Given the description of an element on the screen output the (x, y) to click on. 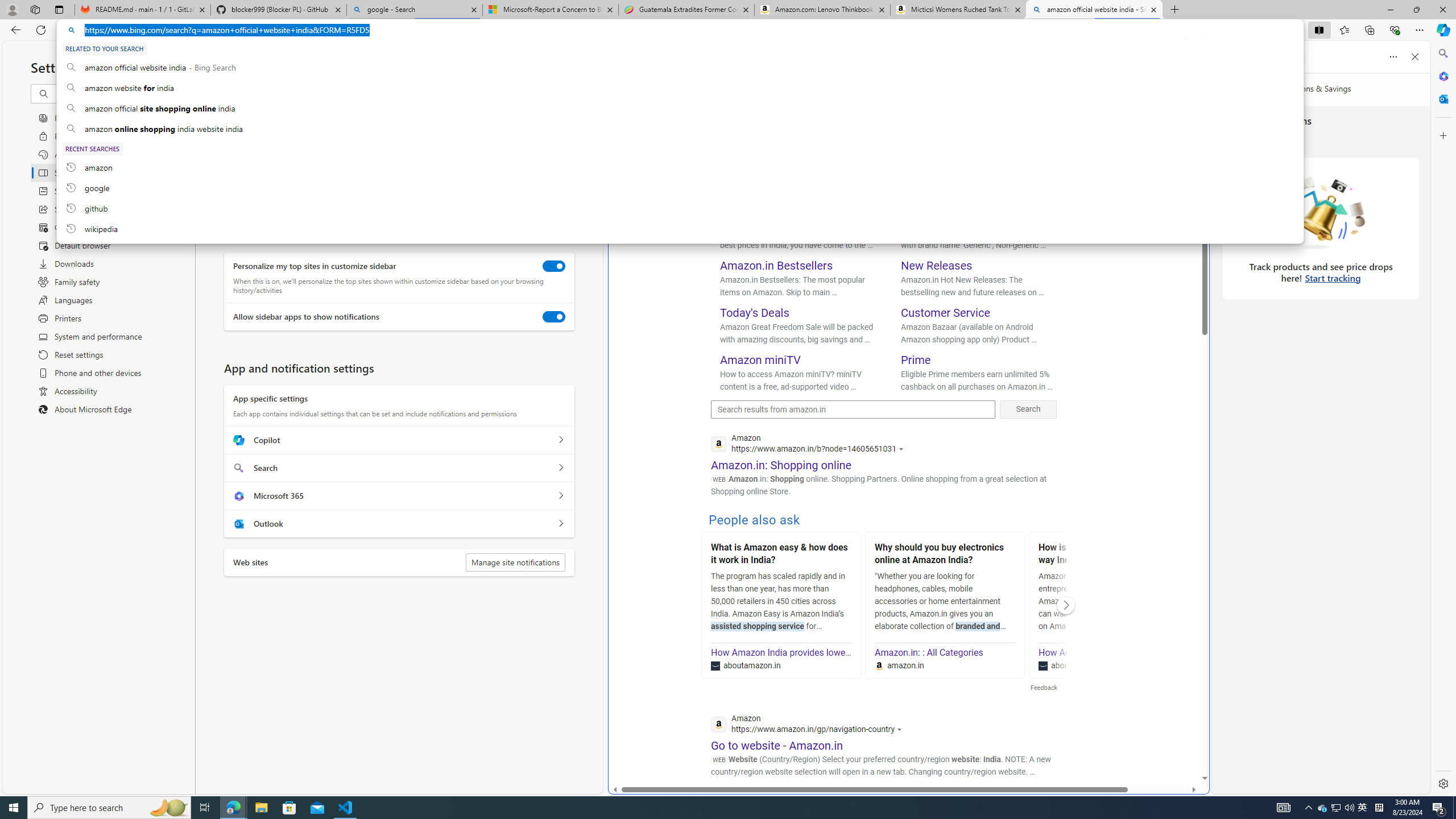
More options. (1183, 45)
SEARCH (728, 96)
Search using an image (1052, 66)
Expand (1142, 153)
Sell (910, 218)
github, recent searches from history (679, 208)
Manage site notifications (514, 562)
